Given the description of an element on the screen output the (x, y) to click on. 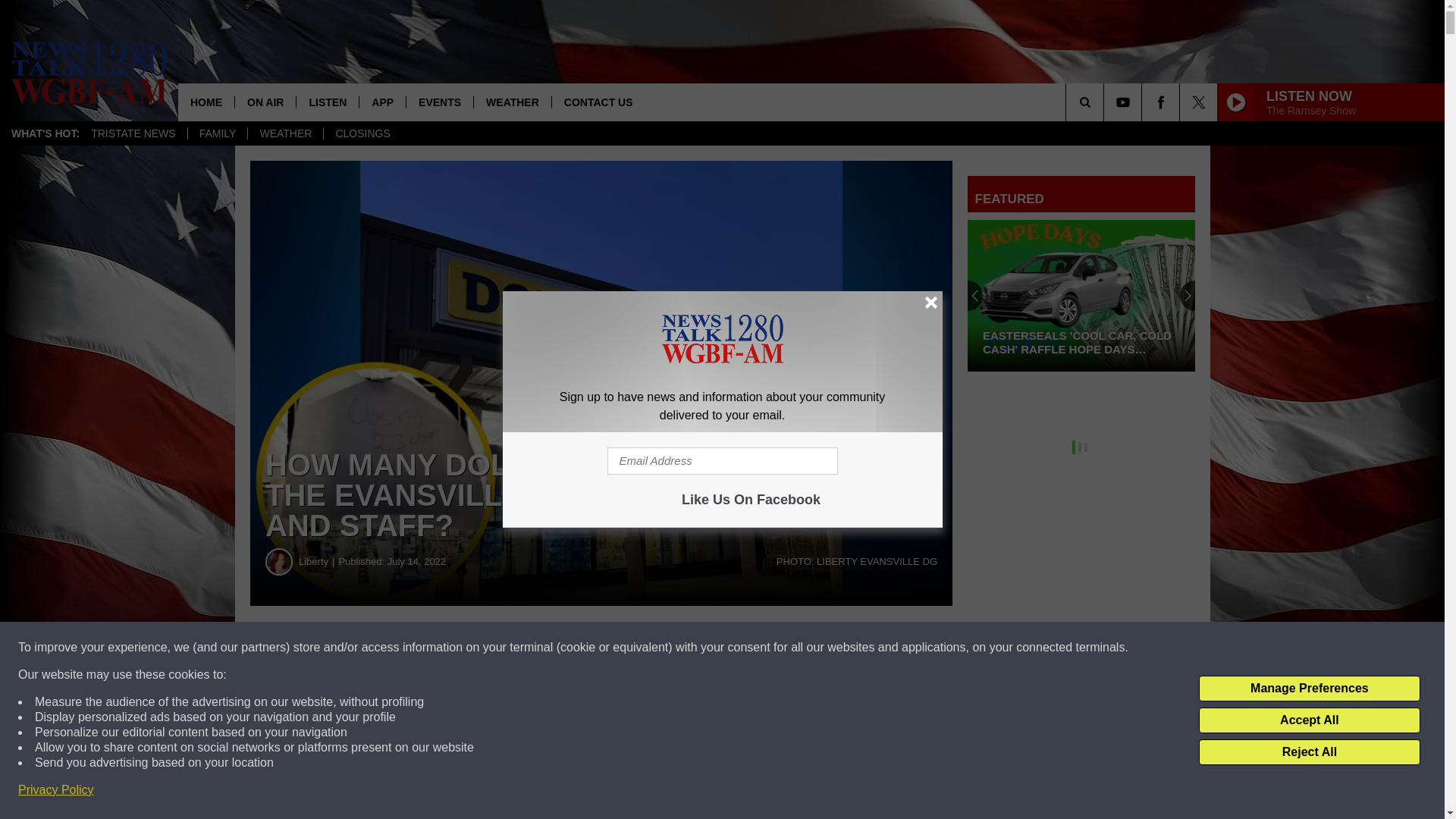
CLOSINGS (362, 133)
WEATHER (512, 102)
Share on Facebook (460, 647)
LISTEN (326, 102)
SEARCH (1106, 102)
Email Address (722, 461)
ON AIR (264, 102)
Manage Preferences (1309, 688)
Privacy Policy (55, 789)
HOME (205, 102)
SEARCH (1106, 102)
CONTACT US (598, 102)
Reject All (1309, 751)
TRISTATE NEWS (133, 133)
EVENTS (439, 102)
